Given the description of an element on the screen output the (x, y) to click on. 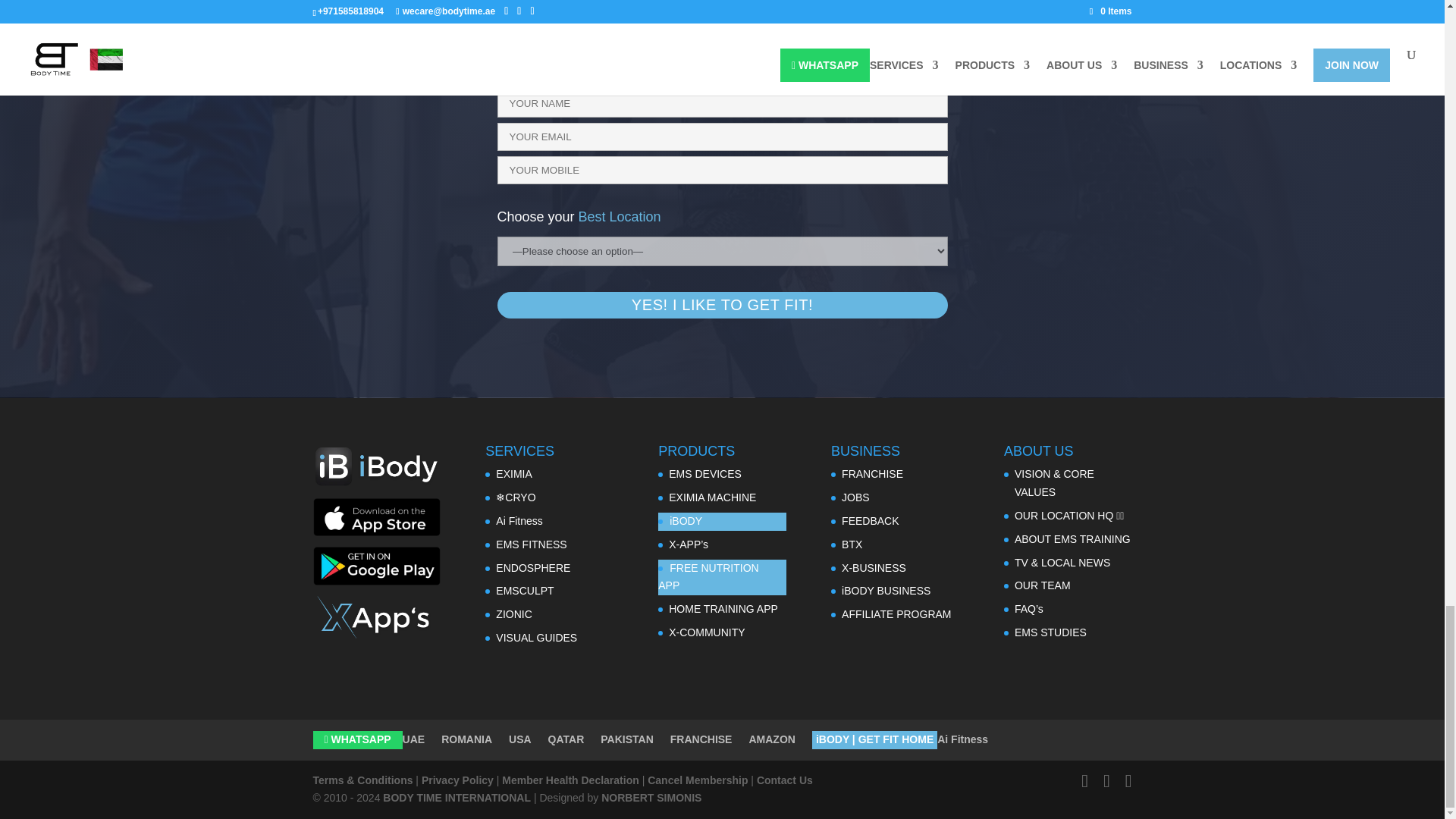
YES! I LIKE TO GET FIT! (722, 304)
